Given the description of an element on the screen output the (x, y) to click on. 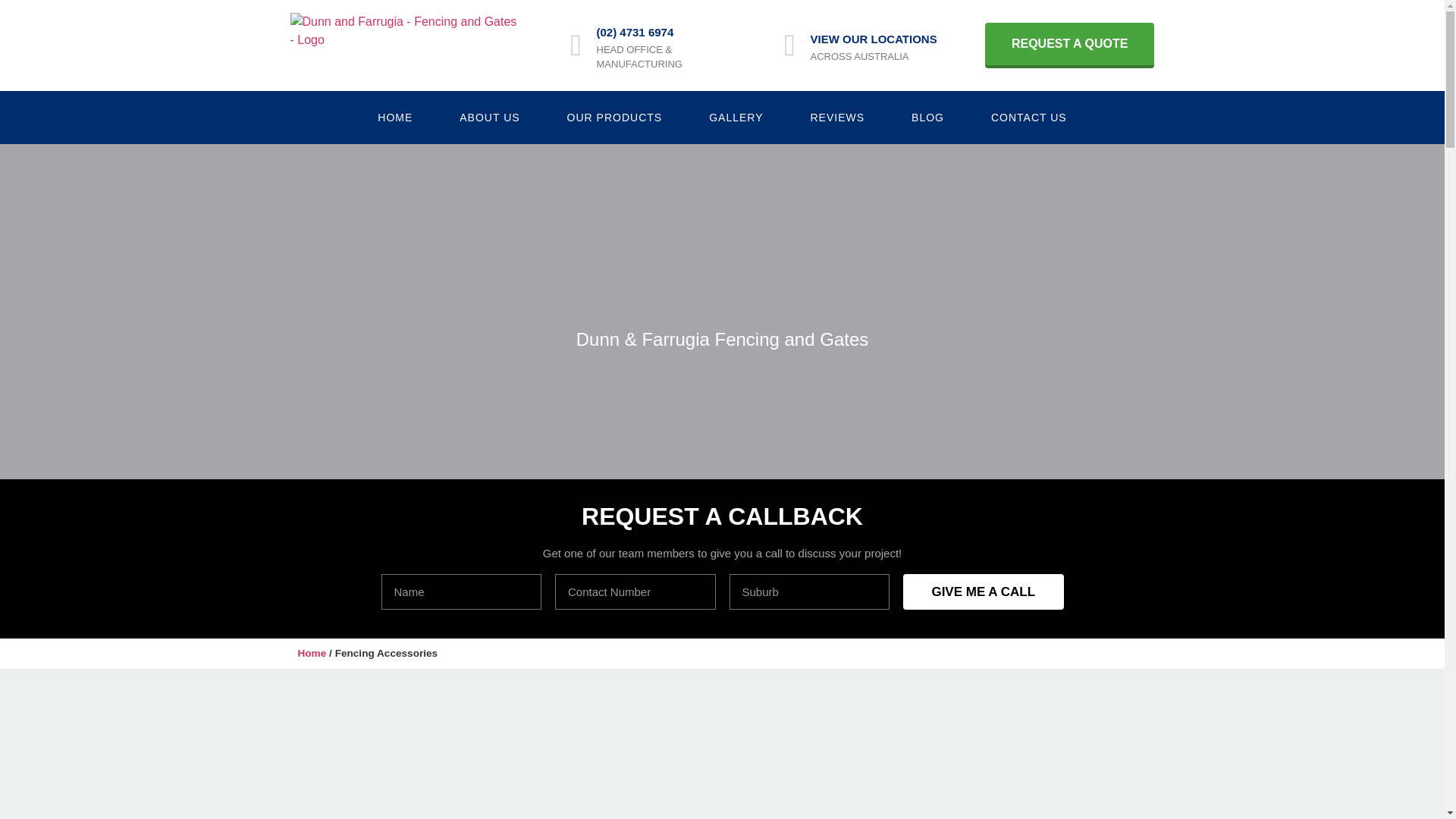
VIEW OUR LOCATIONS Element type: text (872, 38)
Home Element type: text (311, 652)
REVIEWS Element type: text (837, 117)
HOME Element type: text (395, 117)
REQUEST A QUOTE Element type: text (1069, 45)
(02) 4731 6974 Element type: text (634, 31)
GALLERY Element type: text (735, 117)
ABOUT US Element type: text (489, 117)
BLOG Element type: text (927, 117)
OUR PRODUCTS Element type: text (614, 117)
GIVE ME A CALL Element type: text (983, 591)
CONTACT US Element type: text (1028, 117)
